Given the description of an element on the screen output the (x, y) to click on. 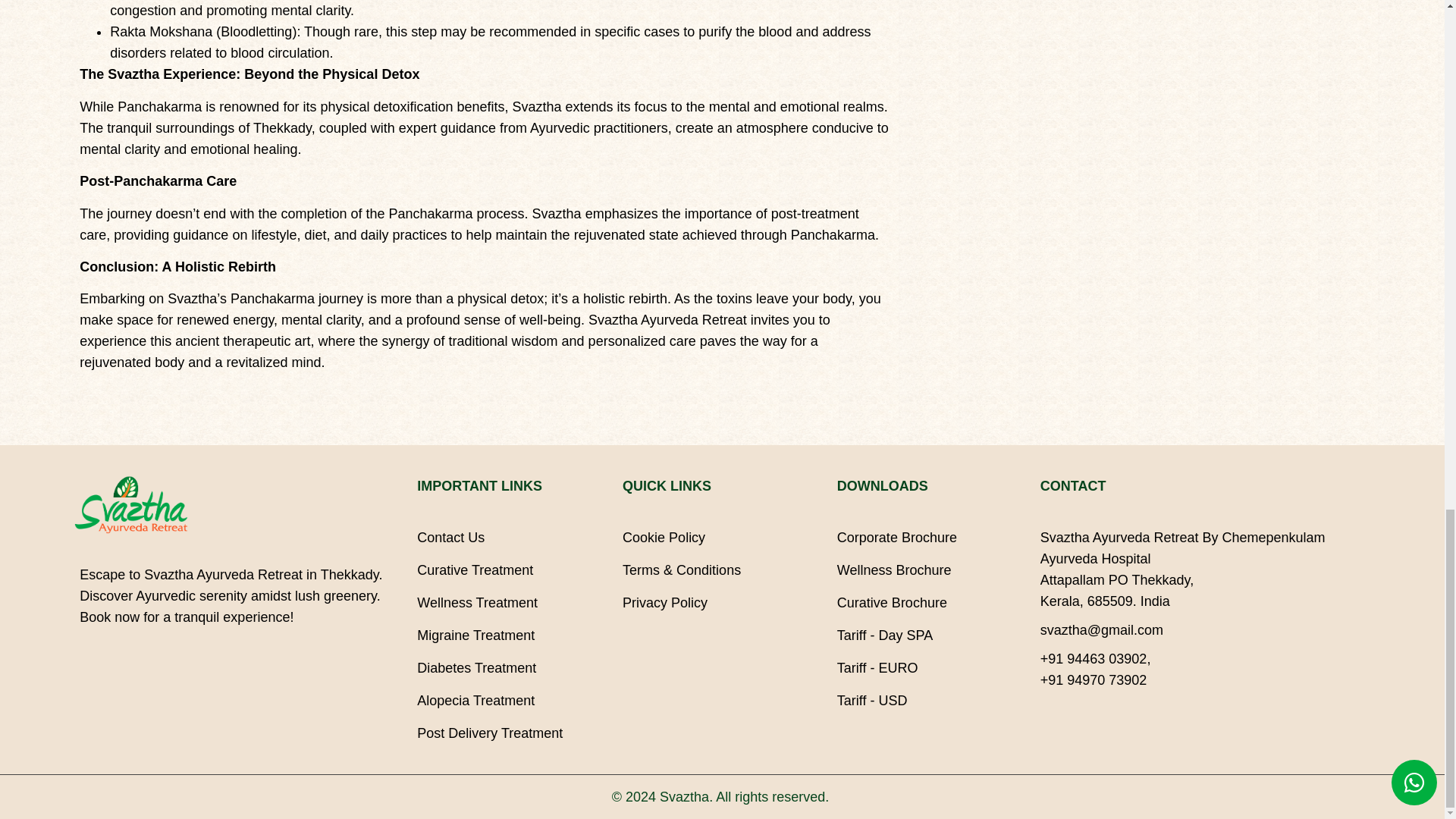
Wellness Treatment (511, 602)
Curative Treatment (511, 569)
Contact Us (511, 537)
Migraine Treatment (511, 635)
